Given the description of an element on the screen output the (x, y) to click on. 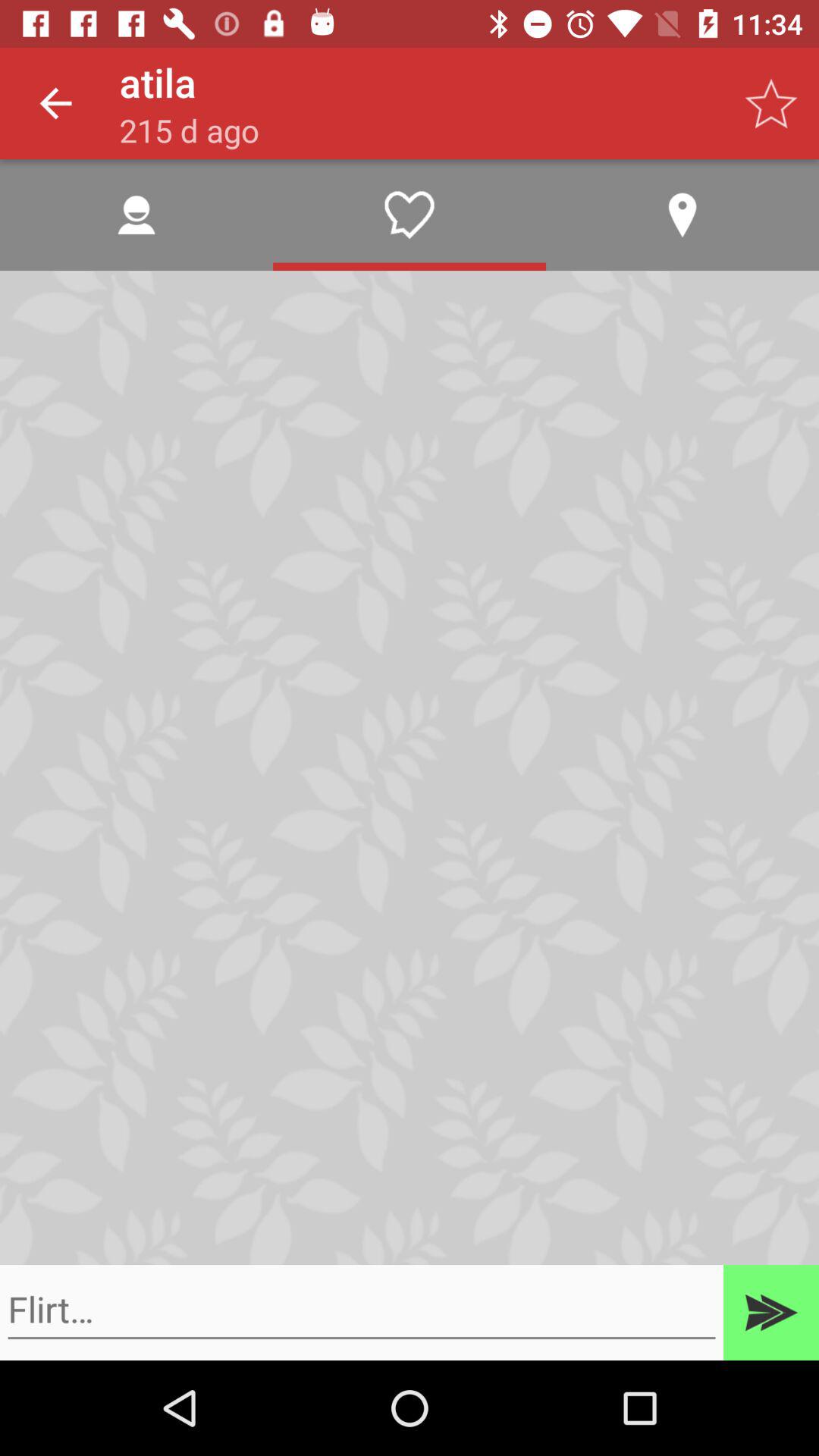
type flirt (361, 1309)
